Given the description of an element on the screen output the (x, y) to click on. 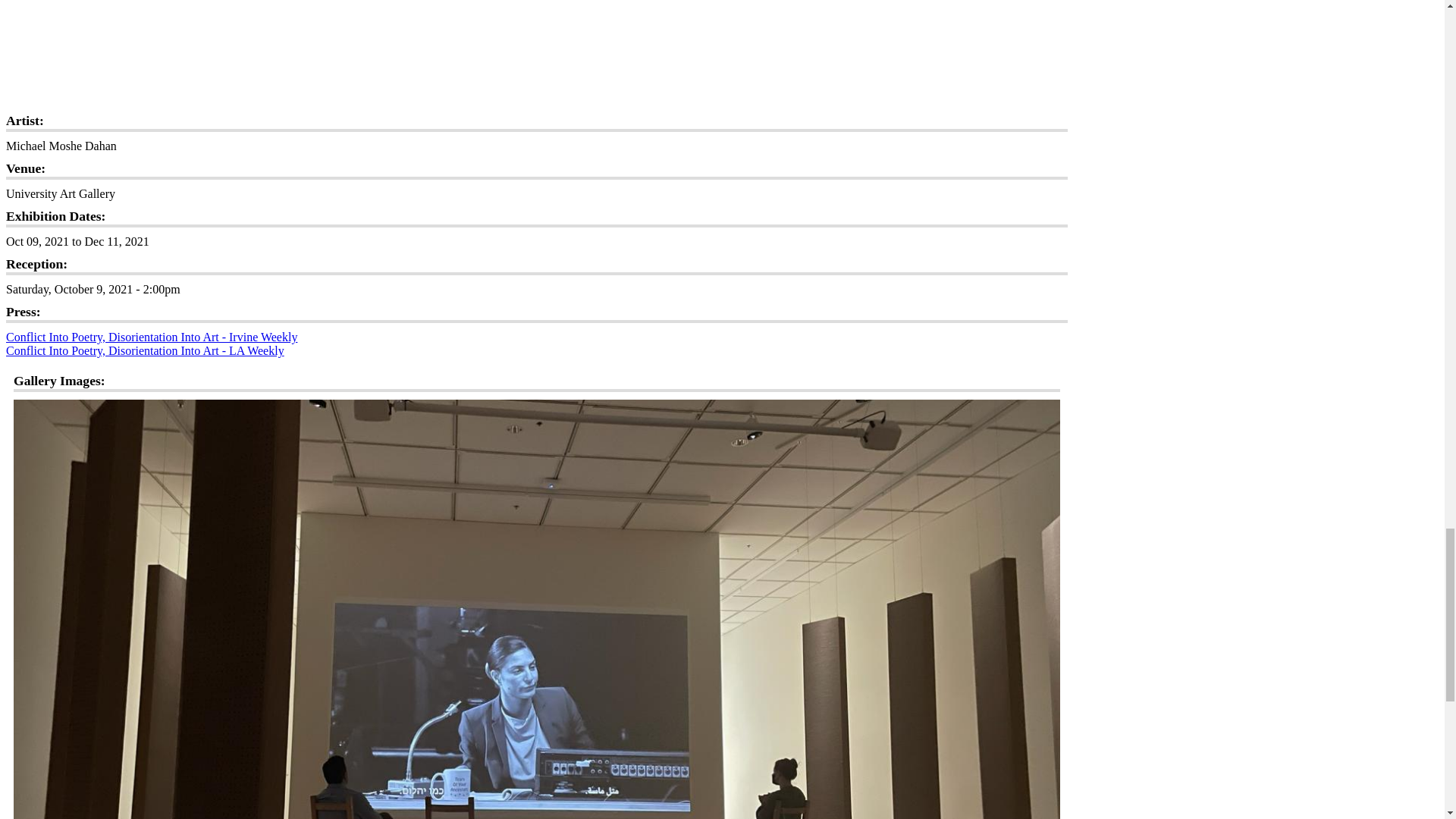
YouTube video player (536, 50)
